Given the description of an element on the screen output the (x, y) to click on. 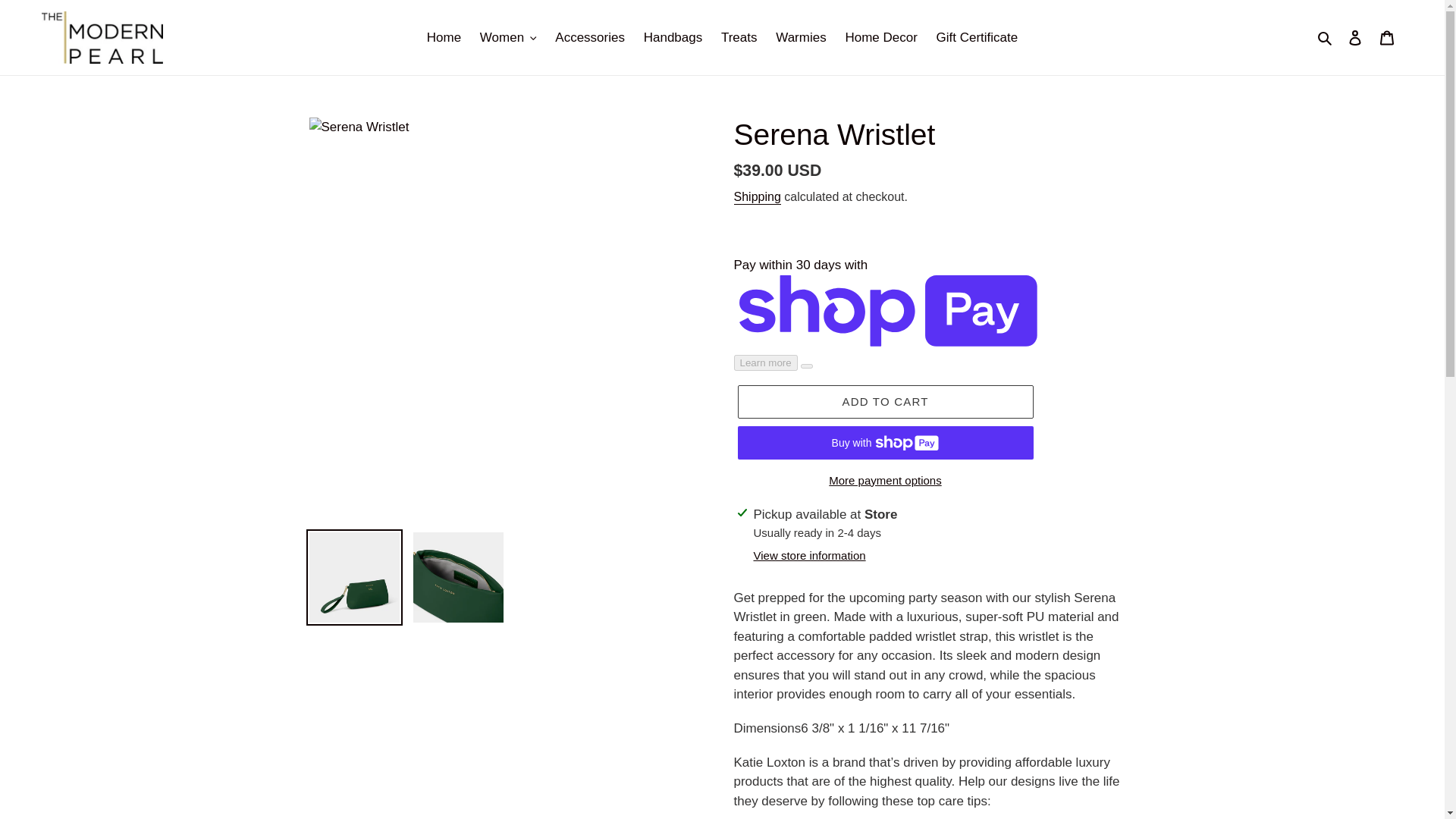
Log in (1355, 37)
Cart (1387, 37)
Home (443, 37)
Warmies (800, 37)
Handbags (673, 37)
Gift Certificate (977, 37)
Treats (739, 37)
Accessories (589, 37)
Home Decor (880, 37)
Women (507, 37)
Search (1326, 37)
